Given the description of an element on the screen output the (x, y) to click on. 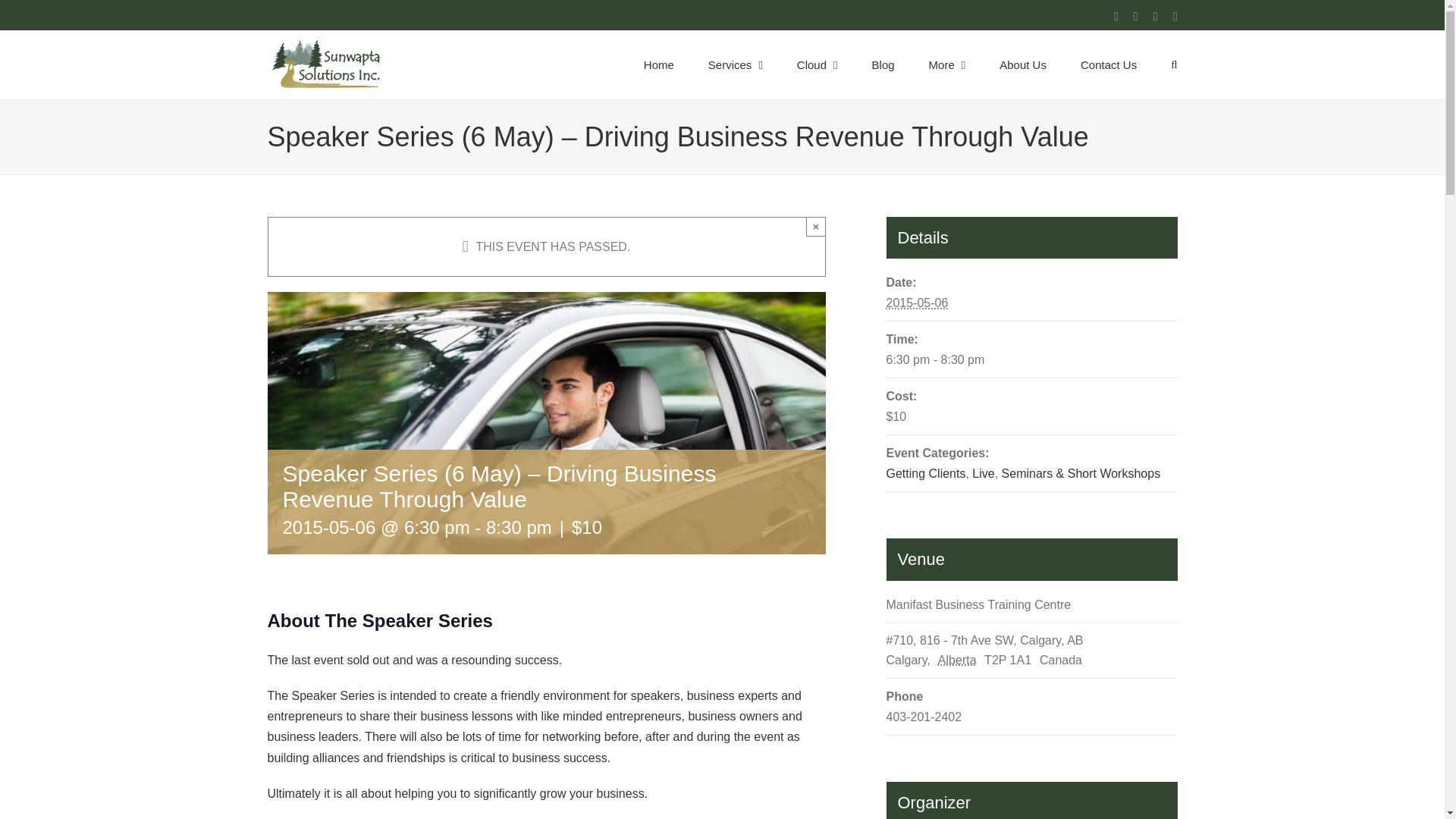
Getting Clients (925, 472)
Live (983, 472)
2015-05-06 (1030, 359)
Alberta (959, 659)
2015-05-06 (916, 302)
